Given the description of an element on the screen output the (x, y) to click on. 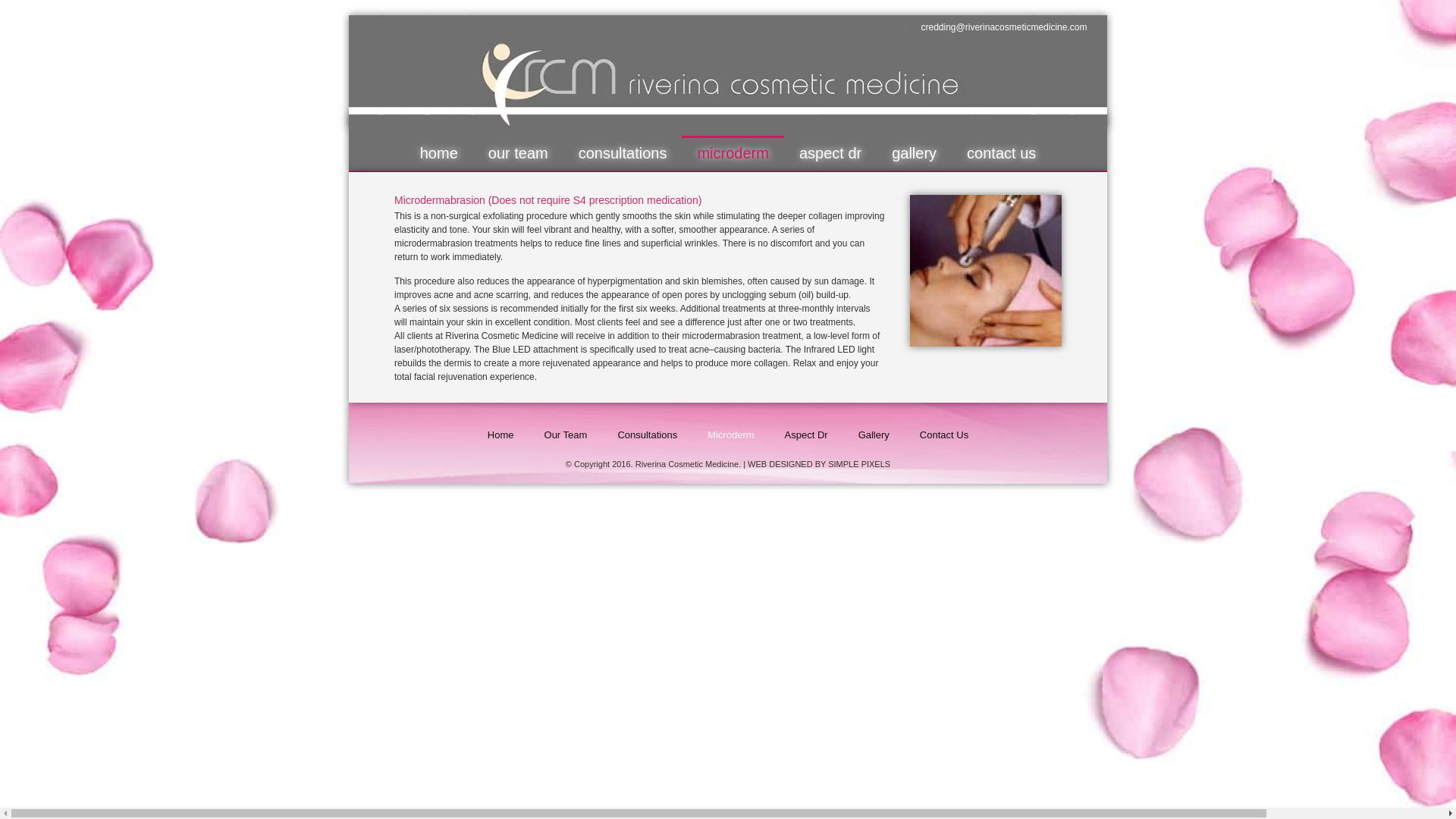
microderm (732, 152)
aspect dr (830, 152)
home (438, 152)
consultations (622, 152)
gallery (914, 152)
our team (518, 152)
contact us (1001, 152)
